Given the description of an element on the screen output the (x, y) to click on. 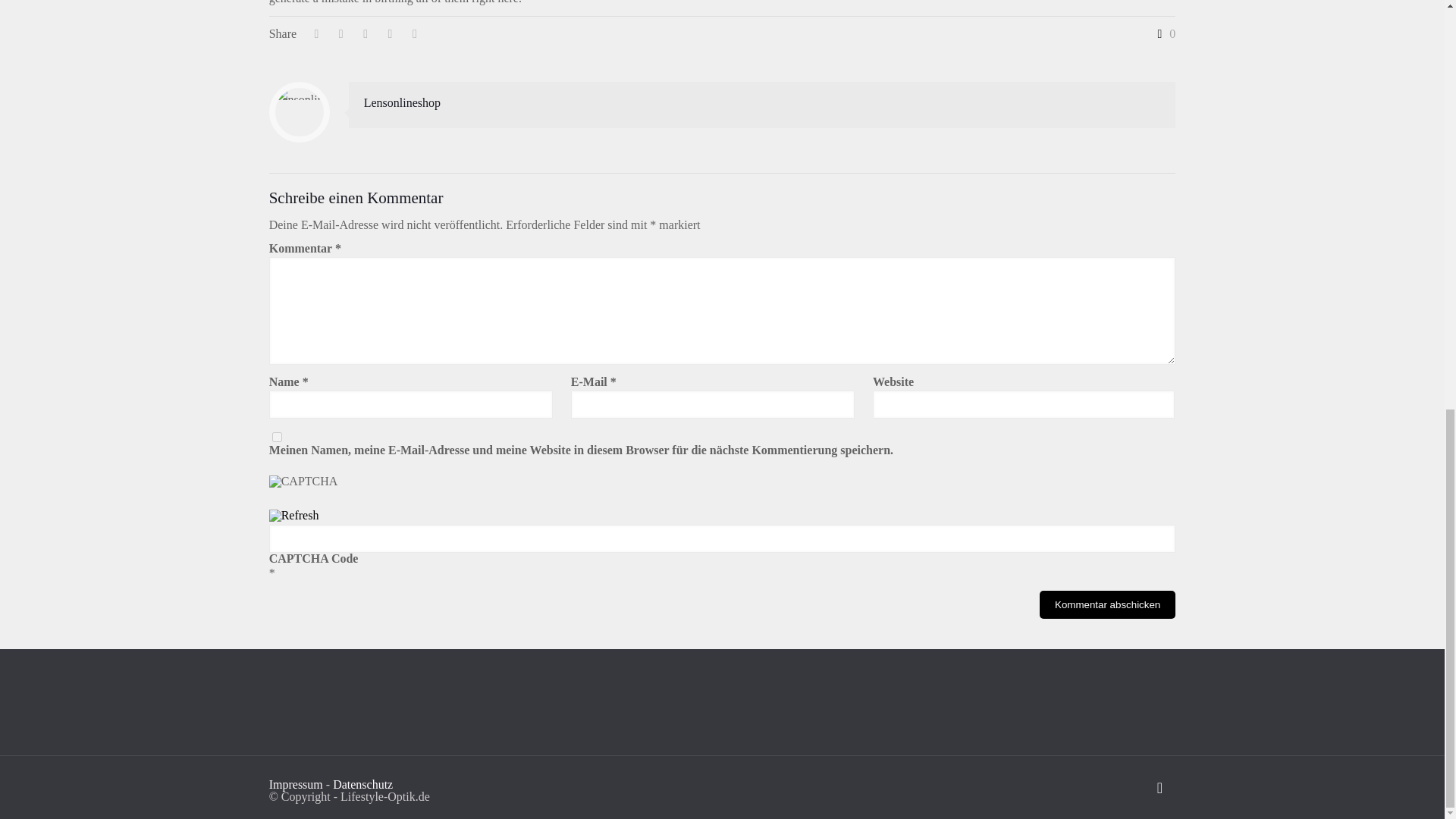
Kommentar abschicken (1106, 604)
Datenschutz (363, 784)
CAPTCHA (320, 492)
Refresh (293, 514)
0 (1162, 33)
Lensonlineshop (402, 102)
Kommentar abschicken (1106, 604)
Impressum (296, 784)
yes (277, 437)
